Given the description of an element on the screen output the (x, y) to click on. 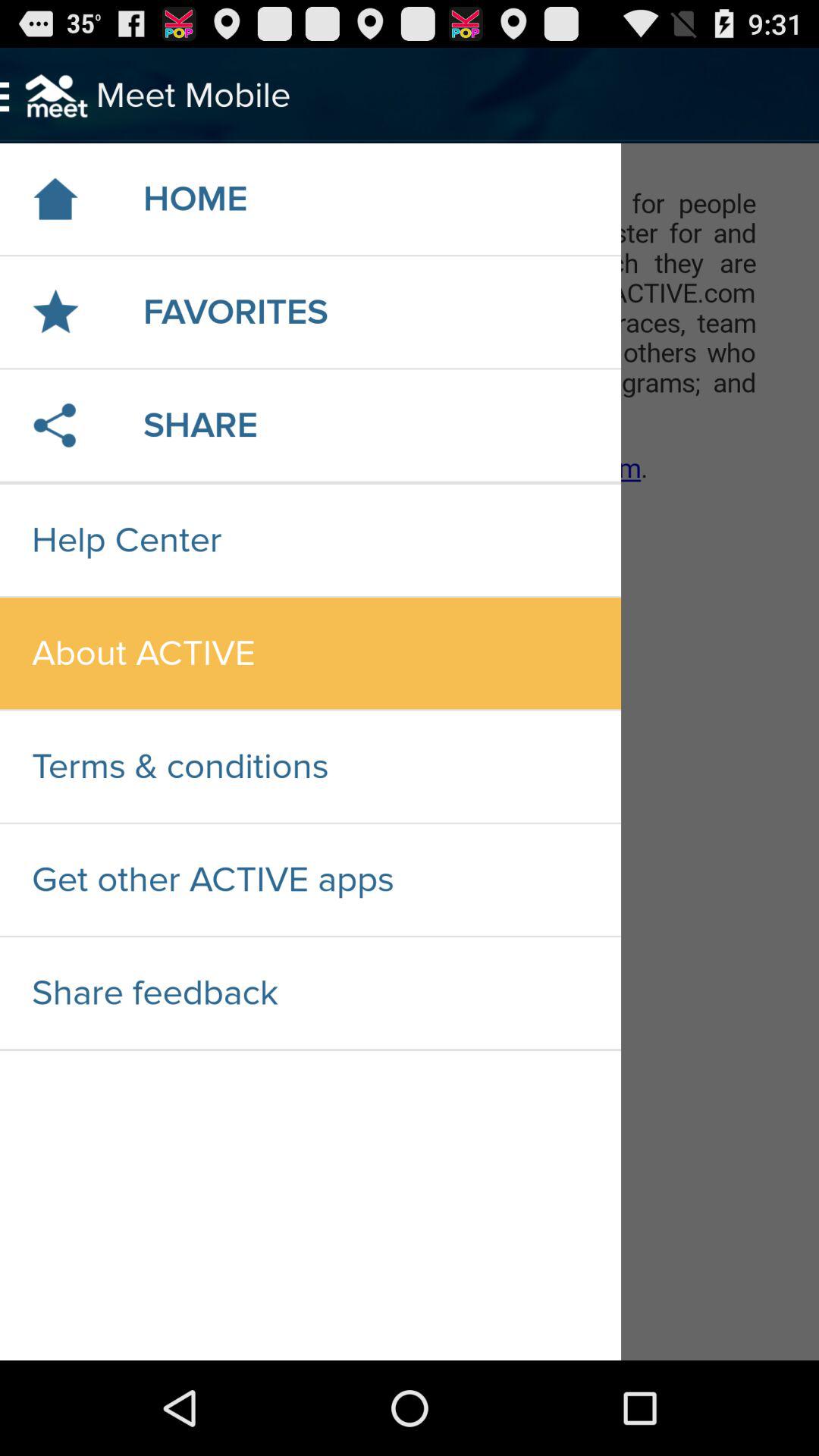
open about active icon (310, 653)
